Given the description of an element on the screen output the (x, y) to click on. 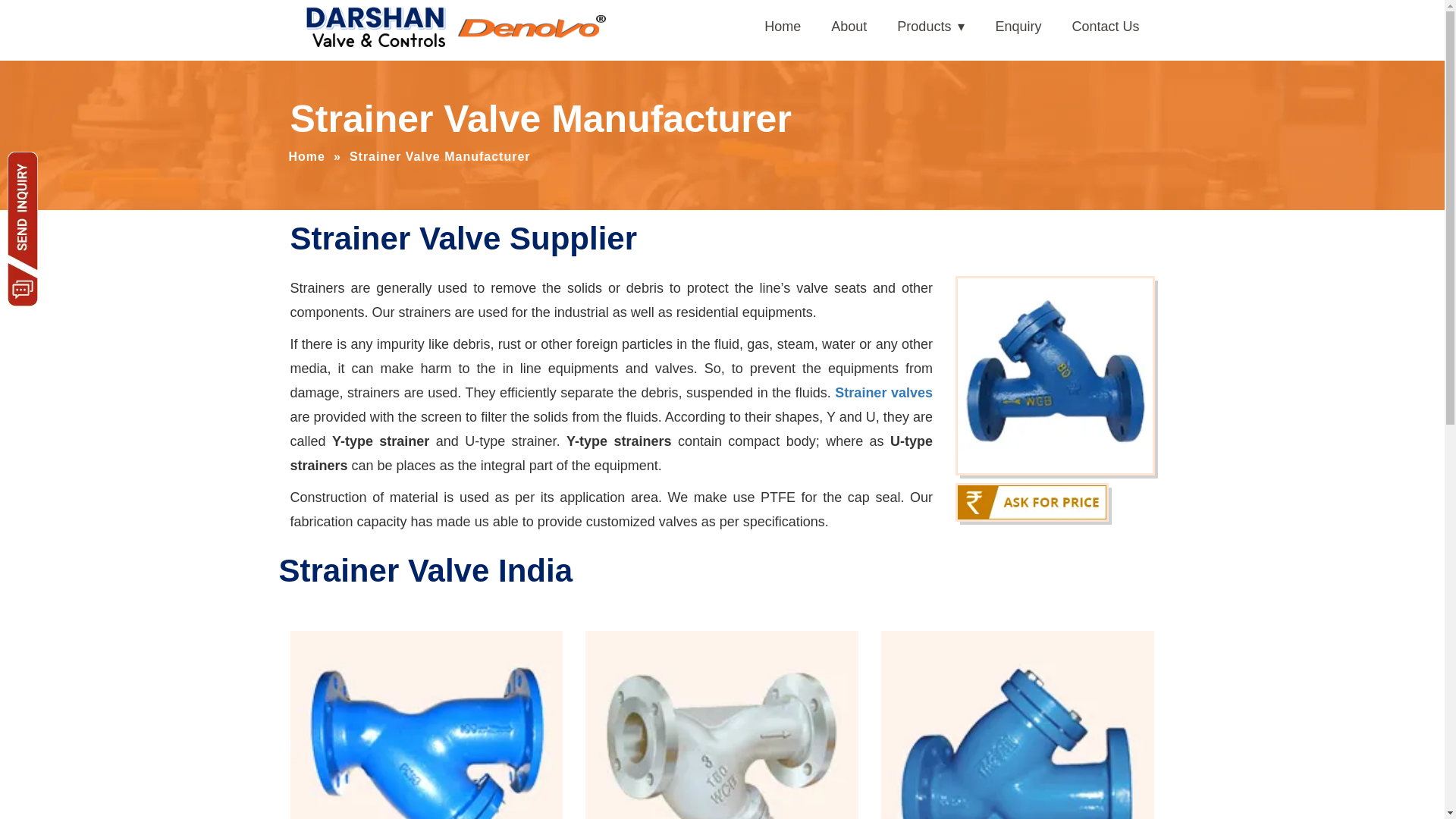
Contact Us (1105, 26)
Home (782, 26)
Enquiry (1018, 26)
Strainer valves (883, 392)
Home (306, 148)
About (848, 26)
Products (930, 26)
